Given the description of an element on the screen output the (x, y) to click on. 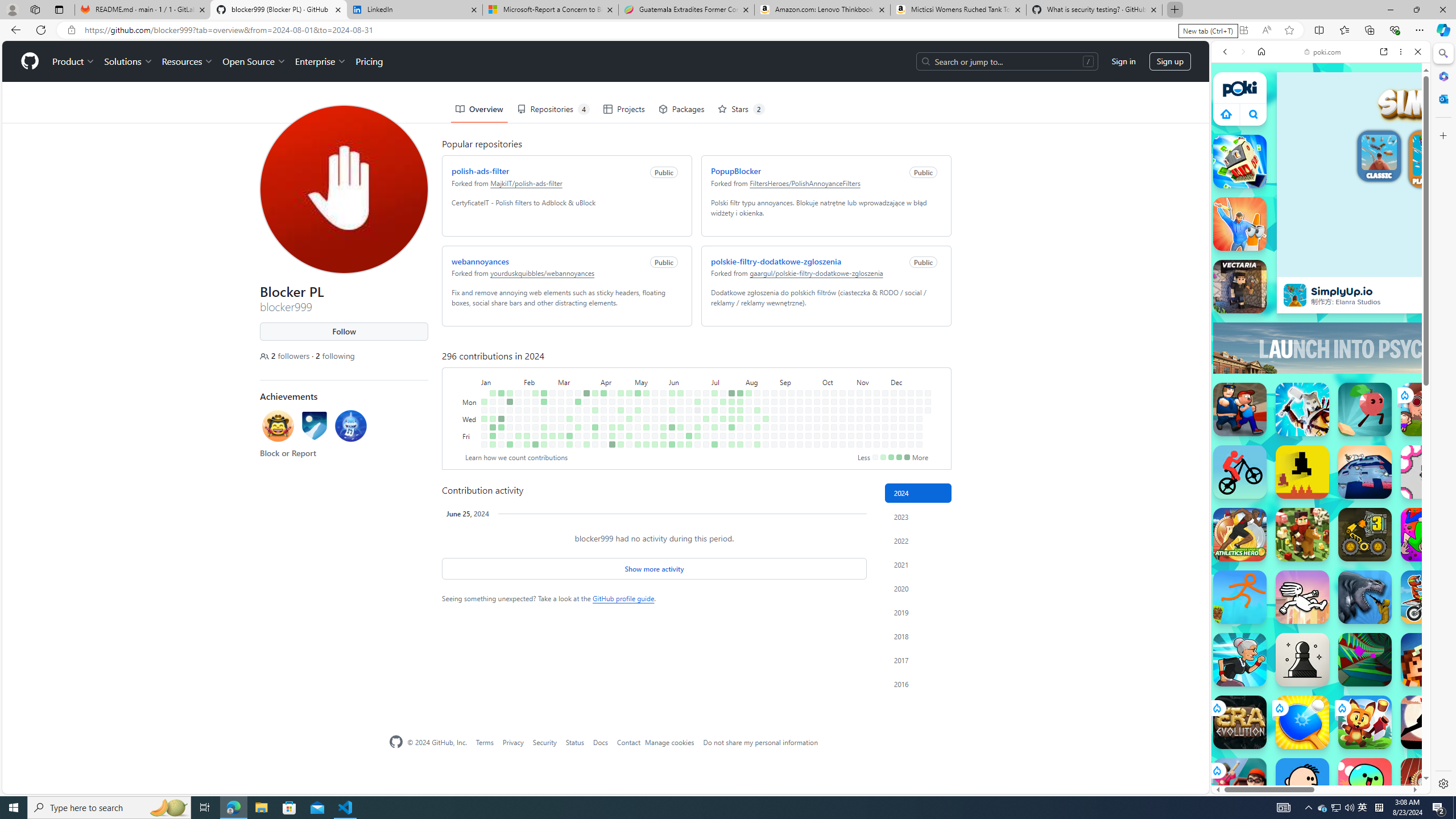
2 contributions on April 28th. (628, 392)
2 contributions on March 21st. (577, 427)
Into the Pit (1427, 471)
No contributions on January 19th. (500, 435)
No contributions on March 17th. (577, 392)
LinkedIn (414, 9)
3 contributions on April 27th. (620, 444)
No contributions on April 11th. (603, 427)
Overview (479, 108)
No contributions on December 15th. (910, 392)
1 contribution on May 16th. (646, 427)
100 Metres Race (1427, 784)
Show More Games for Girls (1390, 407)
SEARCH TOOLS (1350, 130)
No contributions on June 14th. (680, 435)
